Given the description of an element on the screen output the (x, y) to click on. 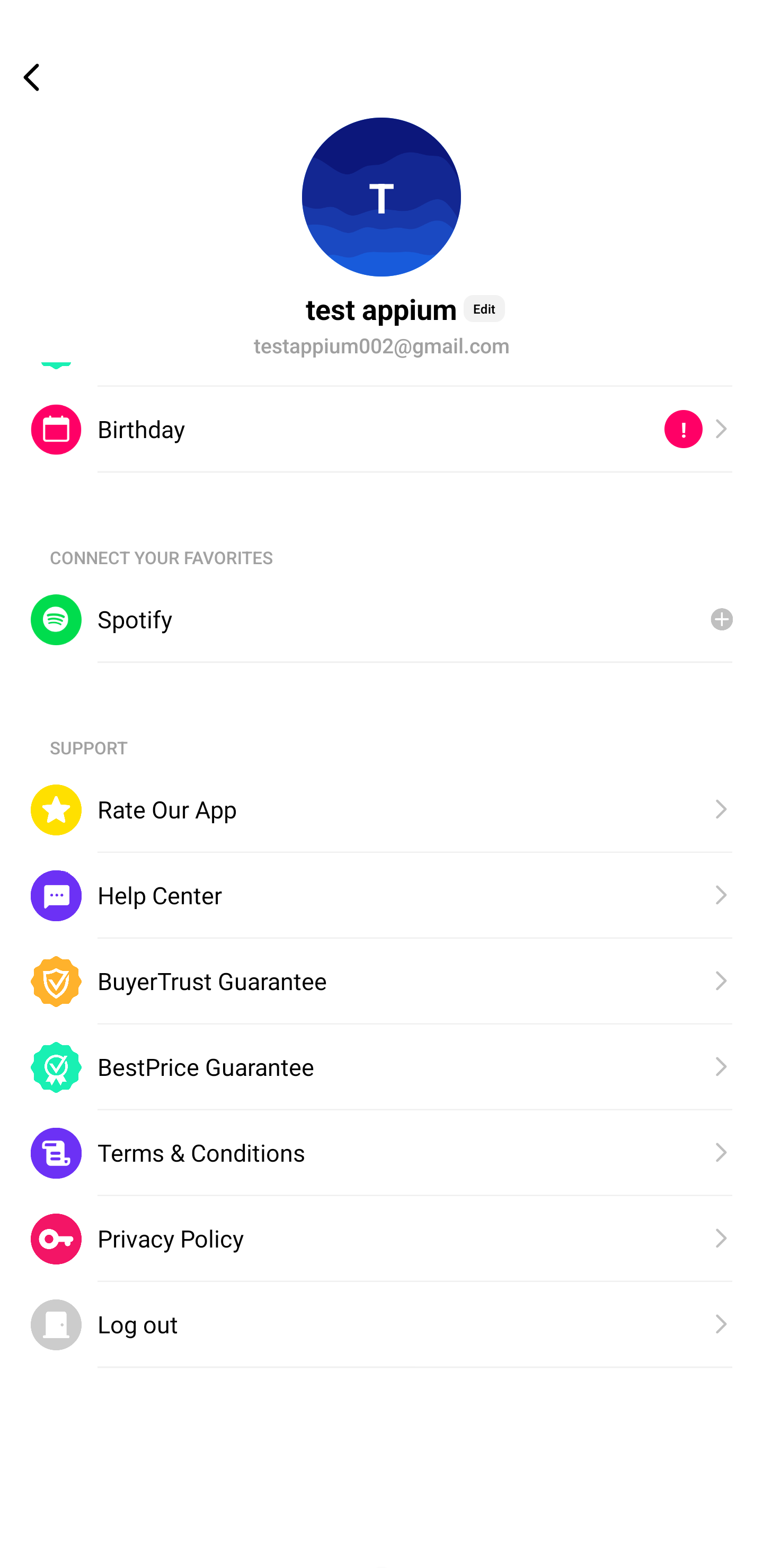
T (381, 196)
Edit (484, 307)
Birthday,   , ! Birthday    ! (381, 429)
Spotify,    Spotify    (381, 620)
Rate Our App,    Rate Our App    (381, 809)
Help Center,    Help Center    (381, 895)
BuyerTrust Guarantee,    BuyerTrust Guarantee    (381, 981)
BestPrice Guarantee,    BestPrice Guarantee    (381, 1066)
Terms & Conditions,    Terms & Conditions    (381, 1153)
Privacy Policy,    Privacy Policy    (381, 1239)
Log out,    Log out    (381, 1324)
